Given the description of an element on the screen output the (x, y) to click on. 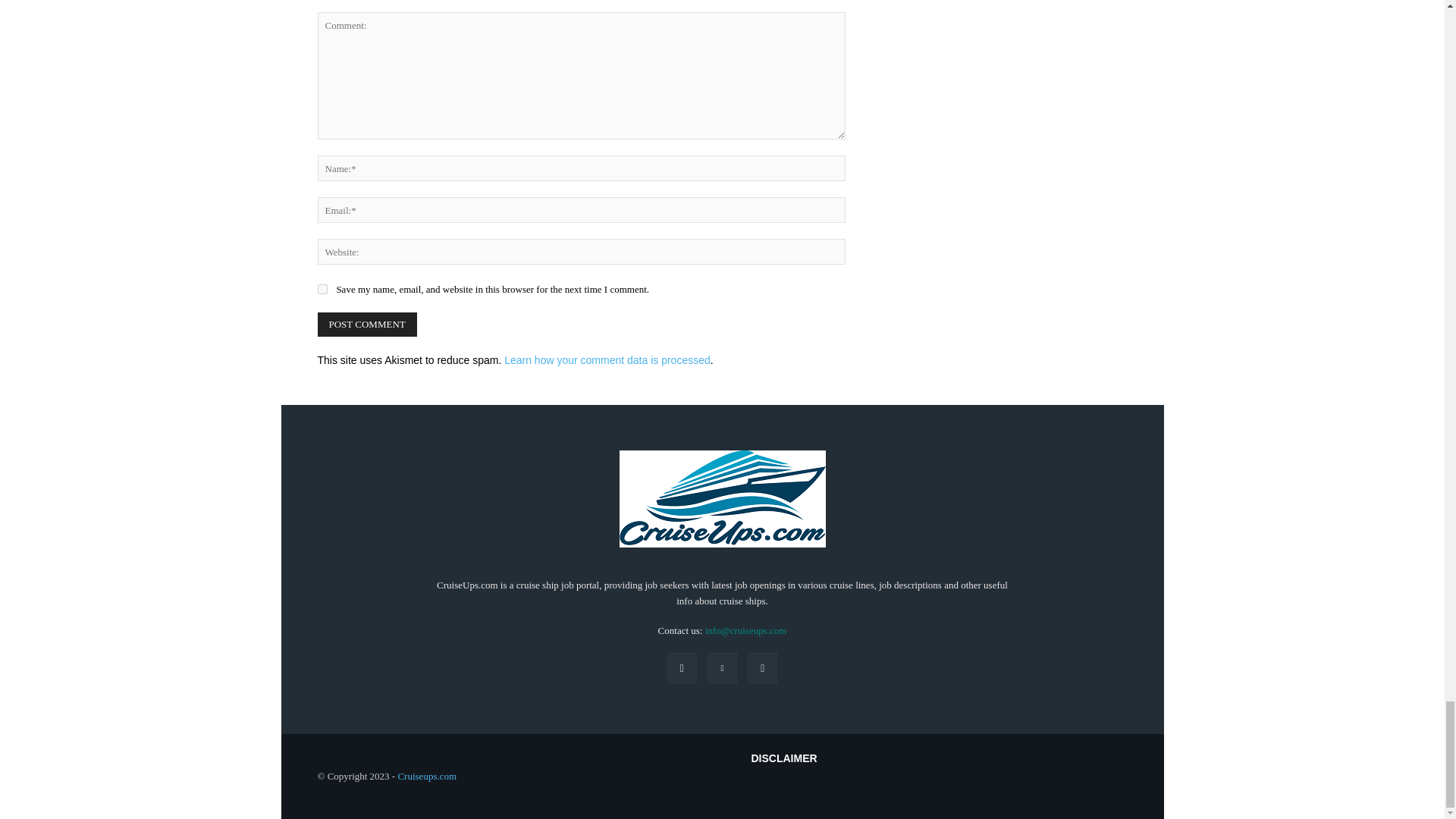
Post Comment (366, 324)
yes (321, 289)
